Given the description of an element on the screen output the (x, y) to click on. 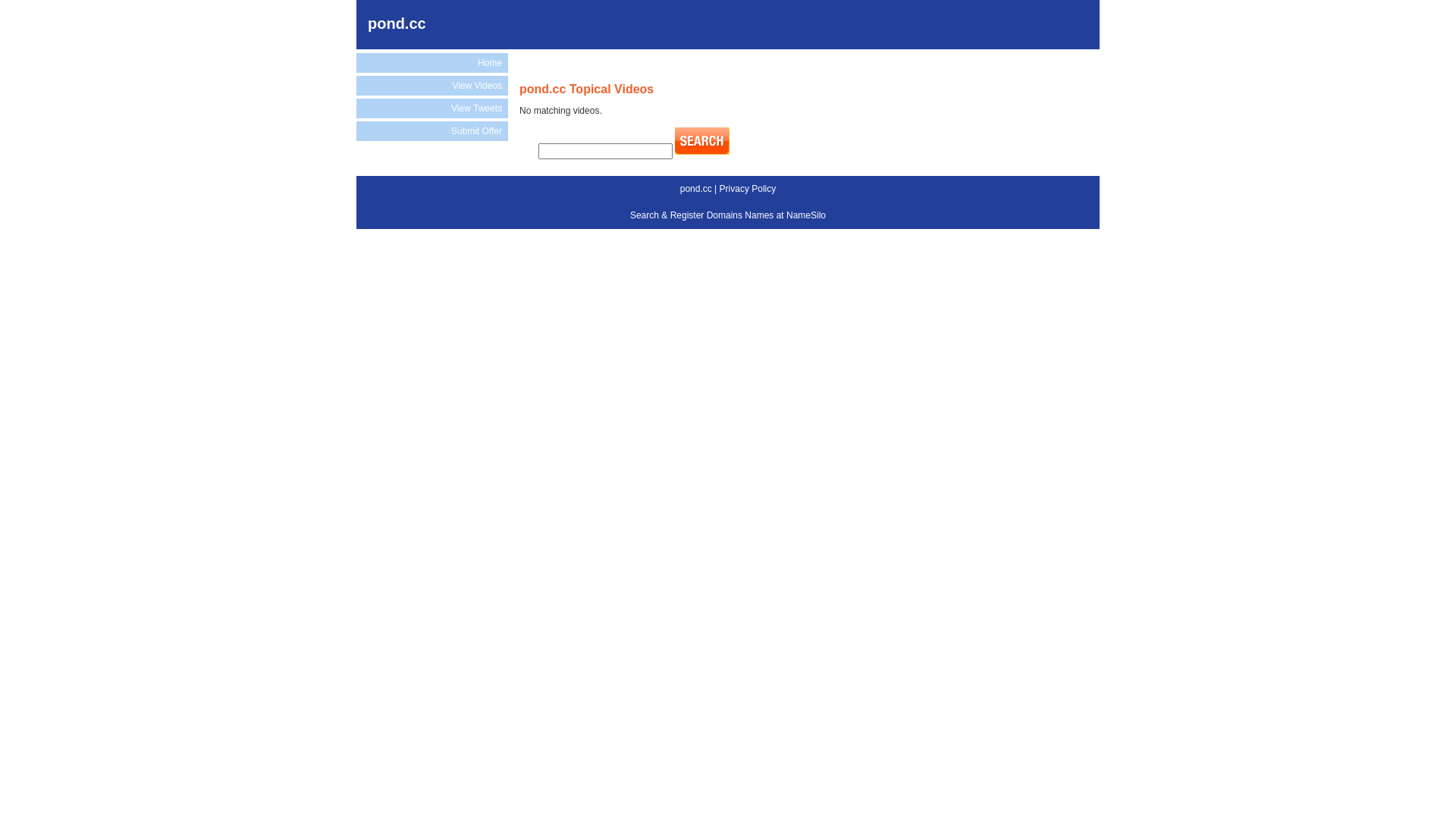
Privacy Policy Element type: text (747, 188)
View Videos Element type: text (432, 85)
Home Element type: text (432, 62)
View Tweets Element type: text (432, 108)
Search & Register Domains Names at NameSilo Element type: text (727, 215)
Submit Offer Element type: text (432, 131)
